Given the description of an element on the screen output the (x, y) to click on. 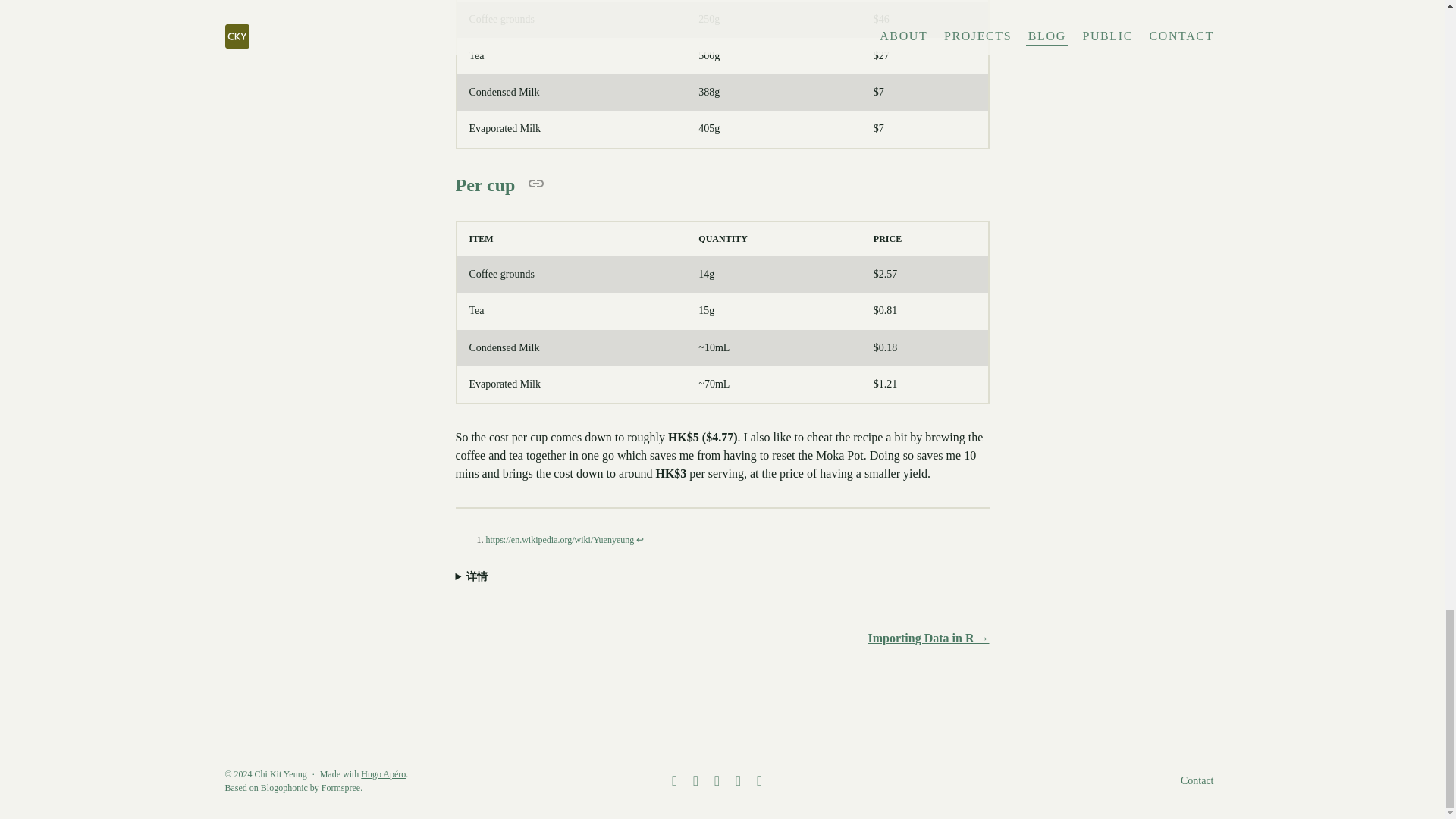
Contact (1197, 781)
instagram (735, 781)
linkedin (713, 781)
Formspree (340, 787)
Blogophonic (283, 787)
github (671, 781)
youtube (756, 781)
Contact form (1197, 781)
kaggle (692, 781)
